Given the description of an element on the screen output the (x, y) to click on. 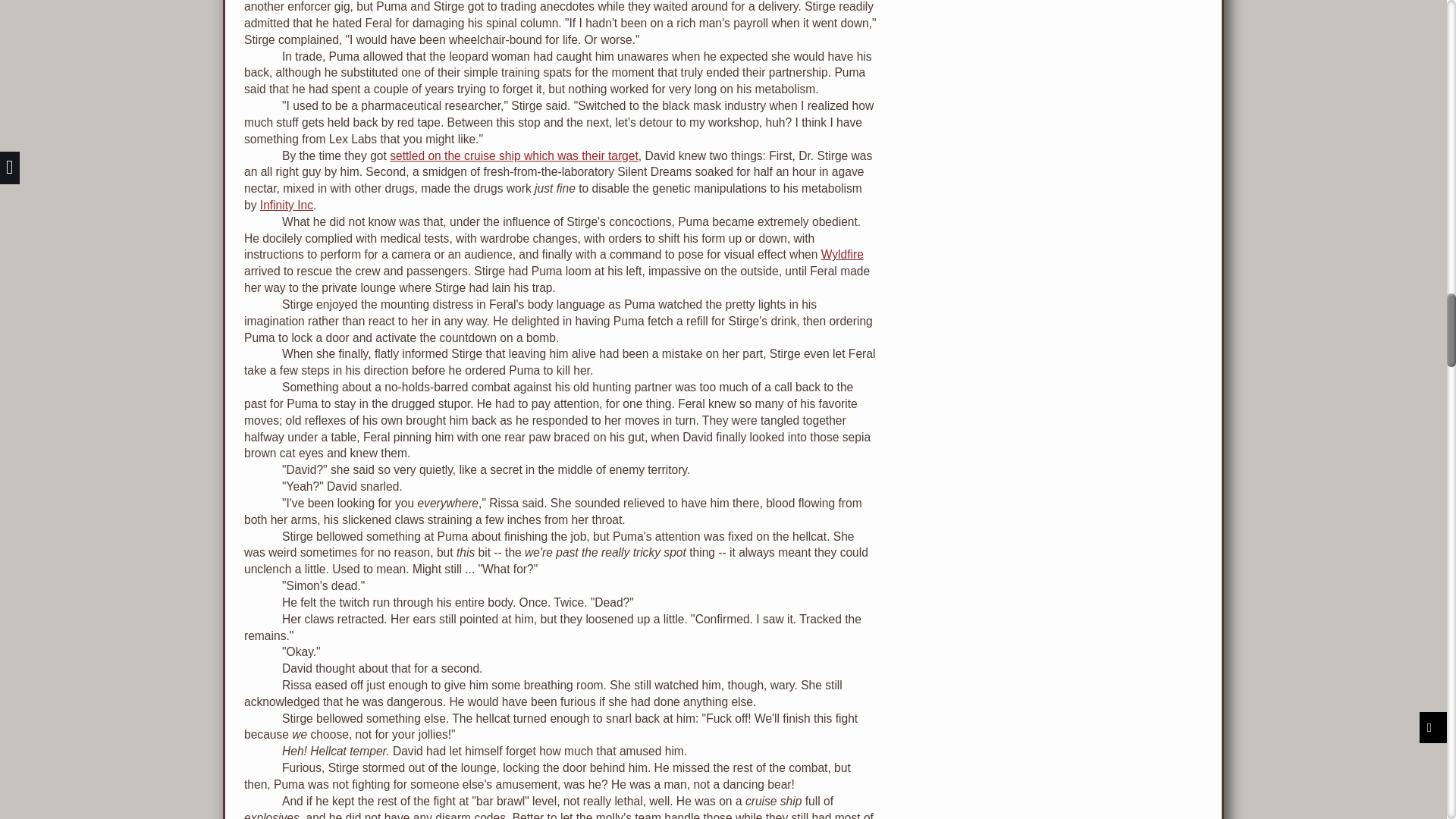
Wyldfire (842, 254)
settled on the cruise ship which was their target (514, 154)
Infinity Inc (286, 205)
